Given the description of an element on the screen output the (x, y) to click on. 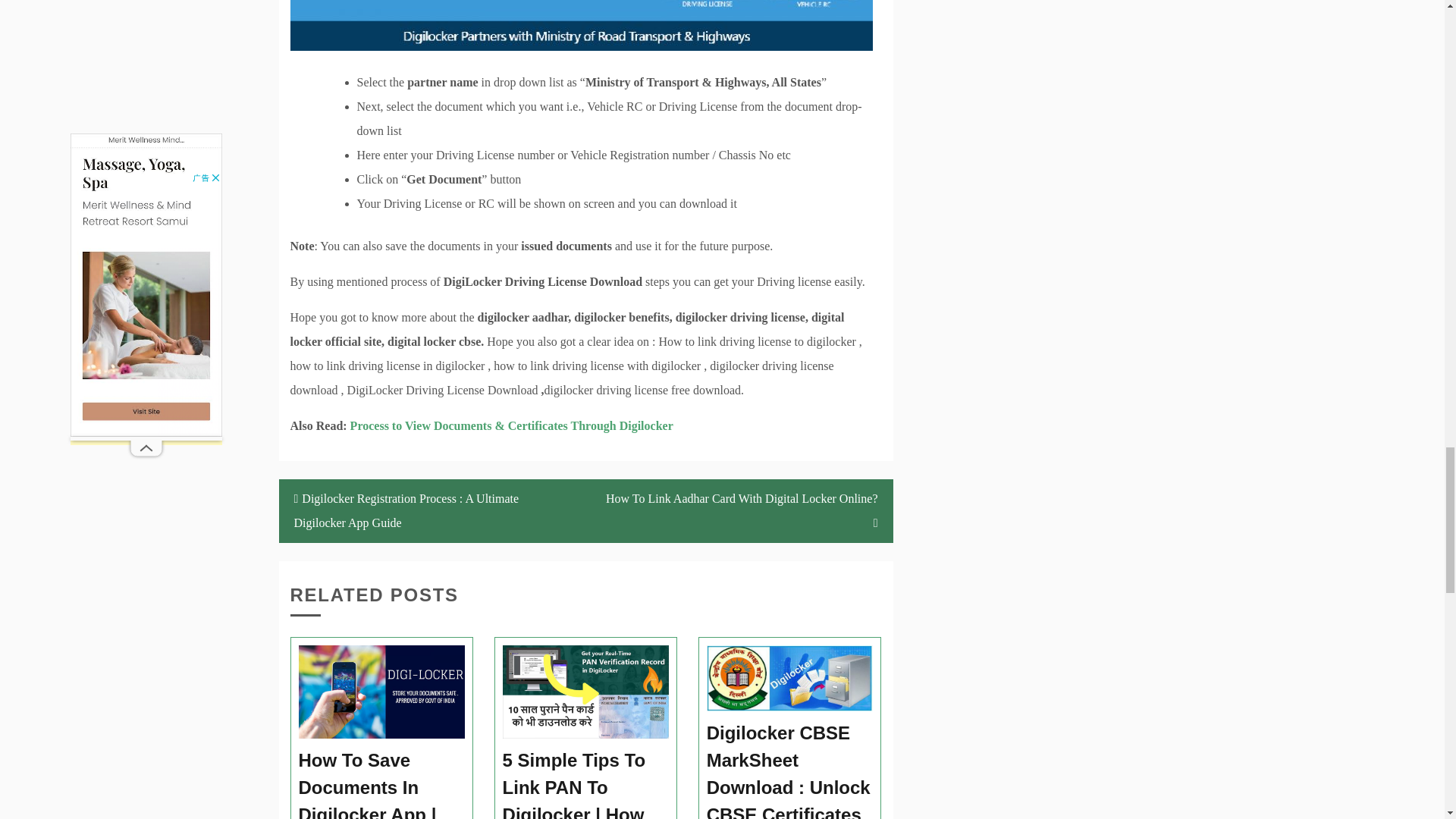
How To Link Aadhar Card With Digital Locker Online? (738, 510)
